Given the description of an element on the screen output the (x, y) to click on. 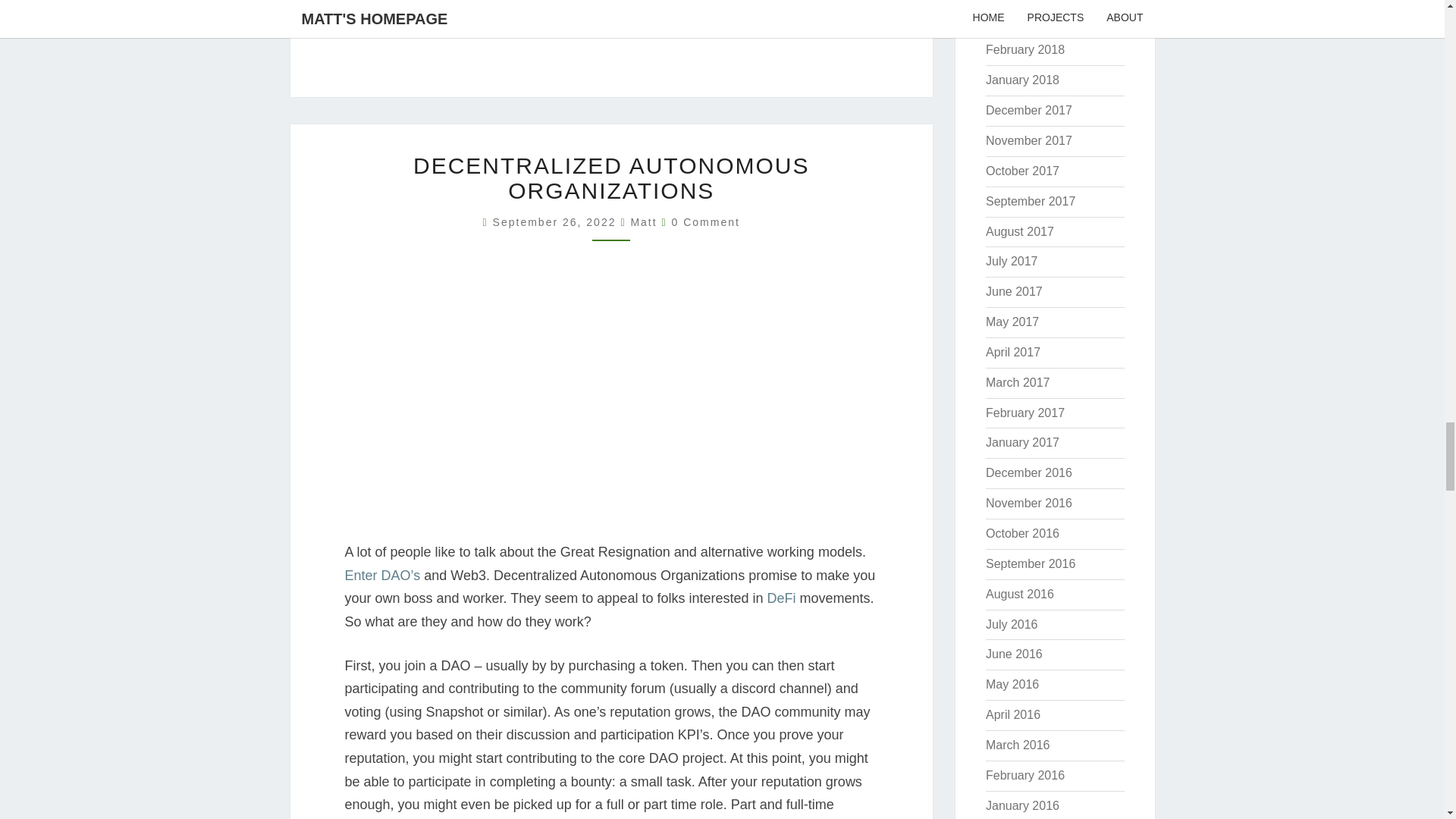
6:39 pm (557, 222)
View all posts by matt (643, 222)
